Given the description of an element on the screen output the (x, y) to click on. 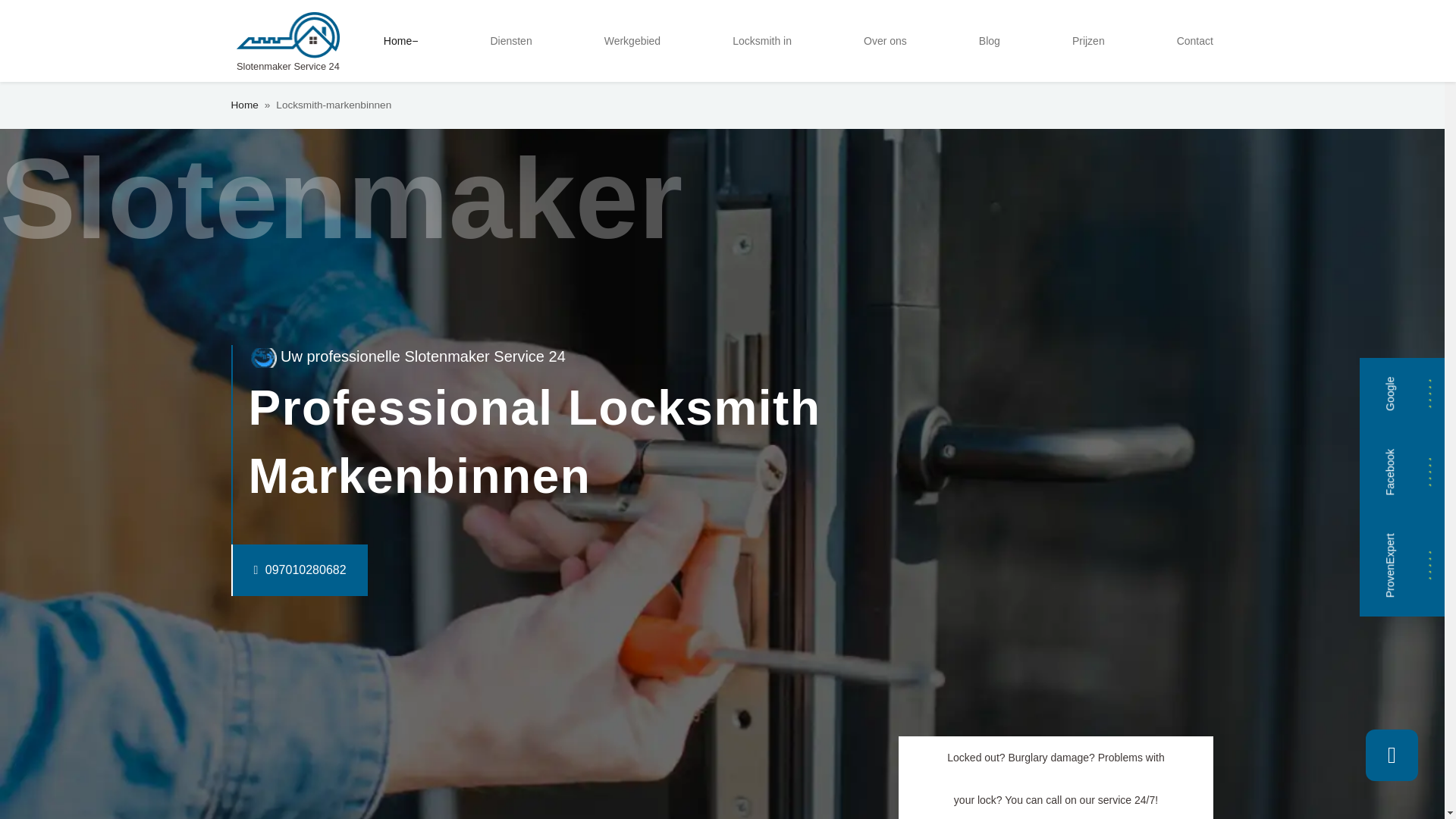
Home (401, 40)
Prijzen (1087, 40)
Locksmith in (761, 40)
Home (243, 105)
Contact (1195, 40)
097010280682 (268, 570)
Werkgebied (632, 40)
Blog (989, 40)
Over ons (884, 40)
Diensten (510, 40)
Slotenmaker Service 24 (287, 40)
